Given the description of an element on the screen output the (x, y) to click on. 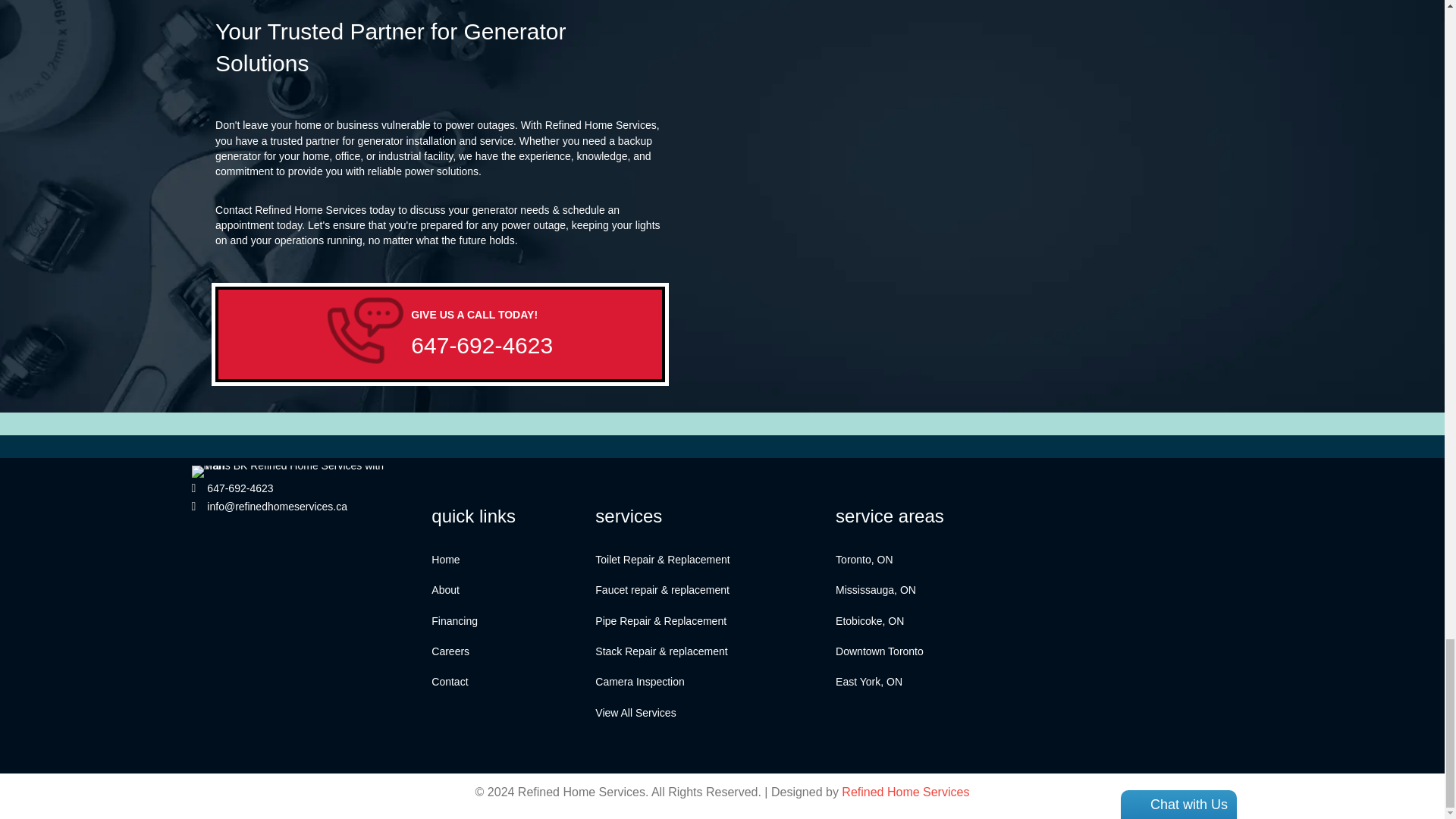
Trans BK Refined Home Services with Man (295, 471)
